Given the description of an element on the screen output the (x, y) to click on. 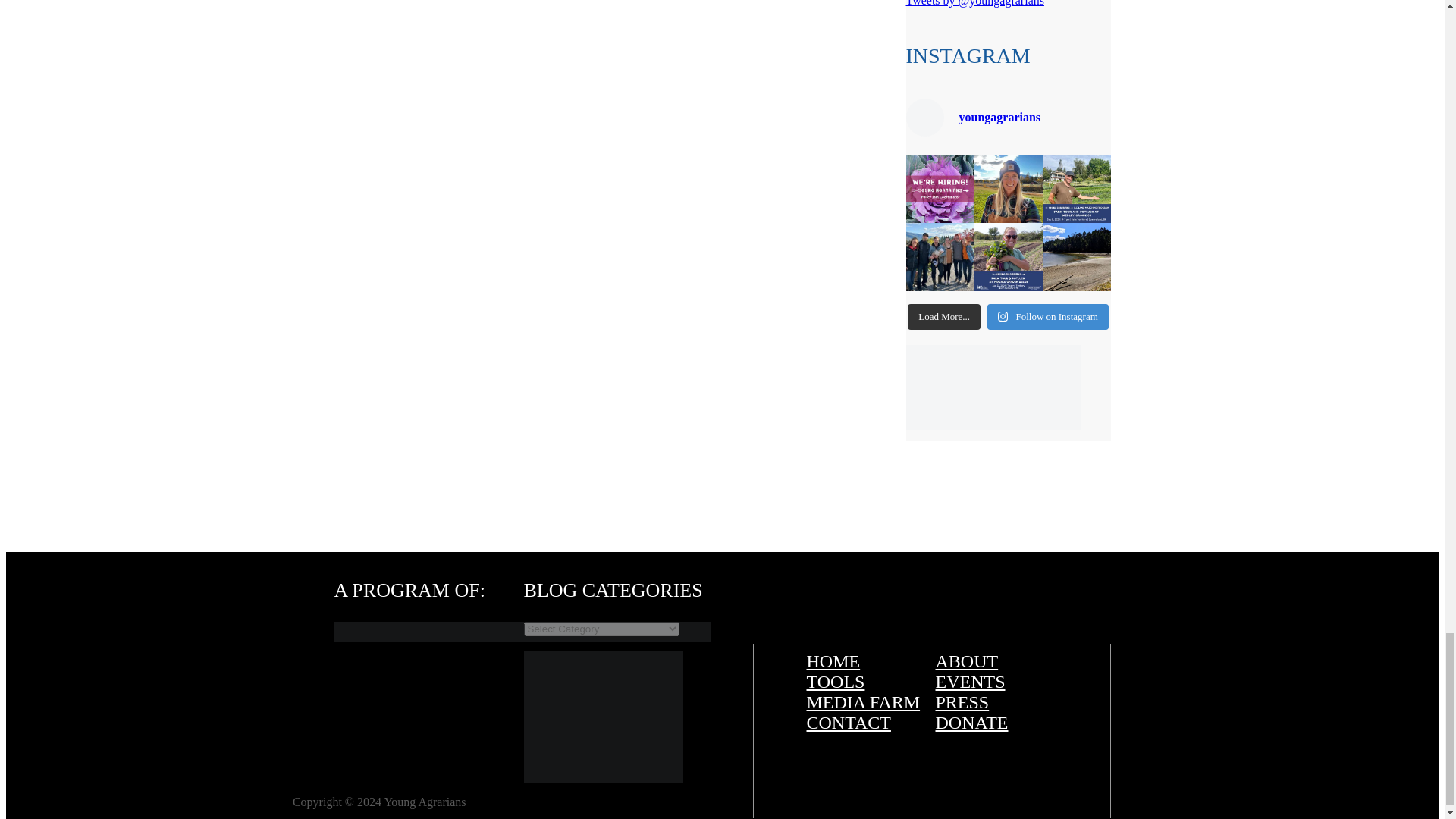
Young Agrarians U-Map (602, 779)
